Given the description of an element on the screen output the (x, y) to click on. 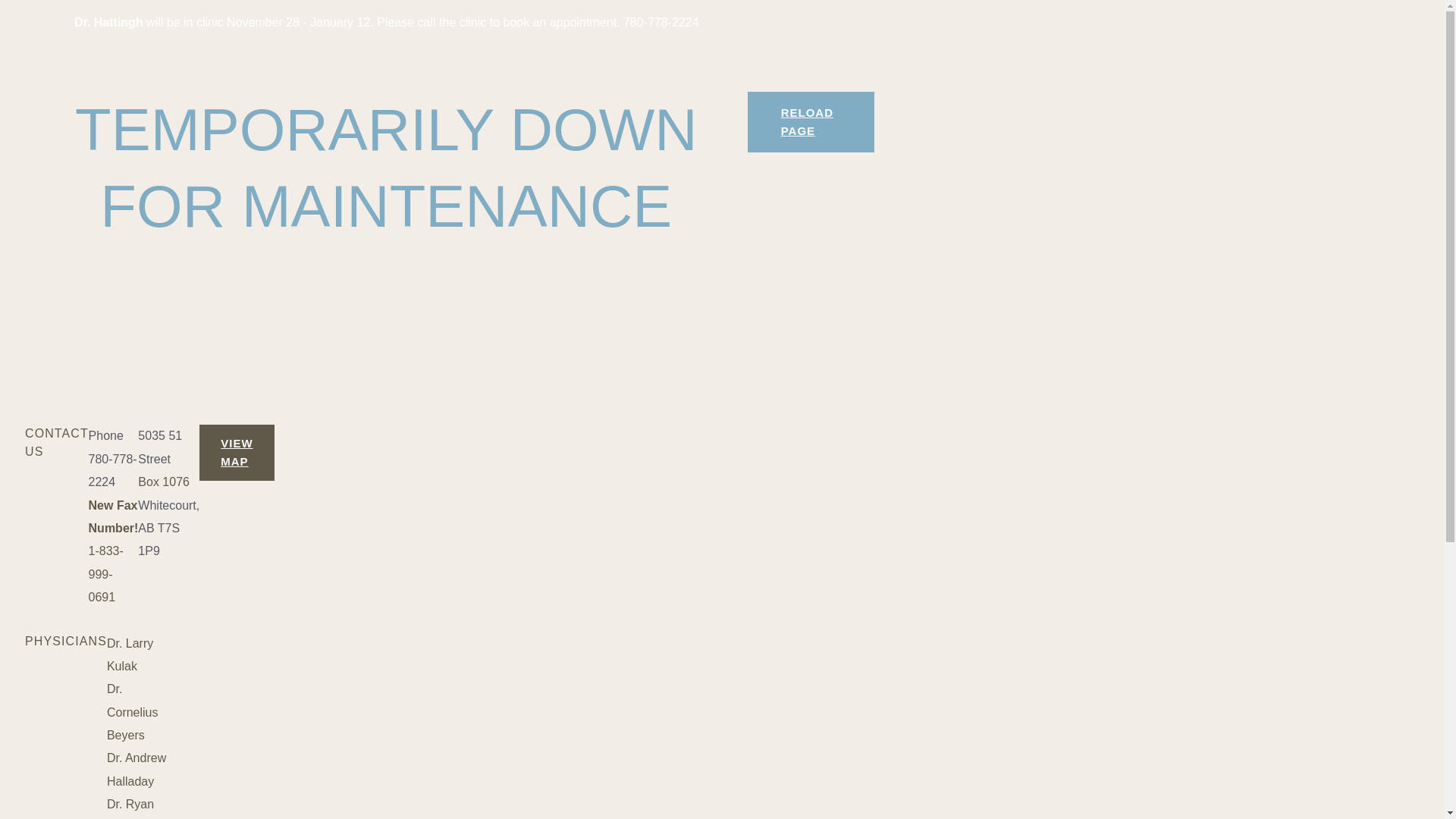
RELOAD PAGE Element type: text (810, 121)
VIEW MAP Element type: text (236, 452)
